Given the description of an element on the screen output the (x, y) to click on. 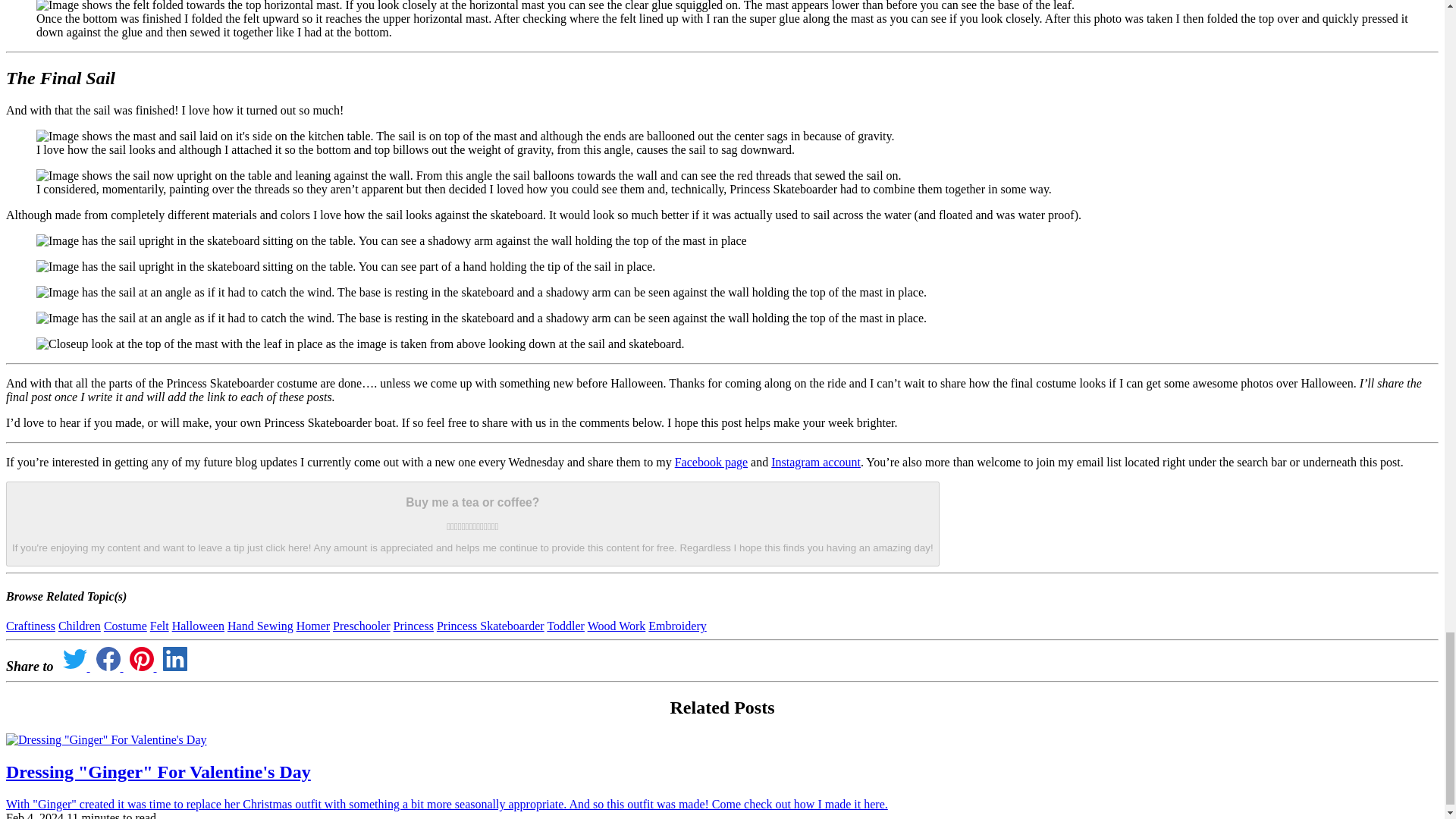
Embroidery (676, 625)
Homer (313, 625)
Craftiness (30, 625)
Wood Work (617, 625)
Facebook page (711, 461)
Costume (125, 625)
Instagram account (815, 461)
Toddler (566, 625)
Preschooler (361, 625)
Wood Work (617, 625)
Princess (413, 625)
Princess Skateboarder (490, 625)
Craftiness (30, 625)
Homer (313, 625)
Halloween (197, 625)
